Given the description of an element on the screen output the (x, y) to click on. 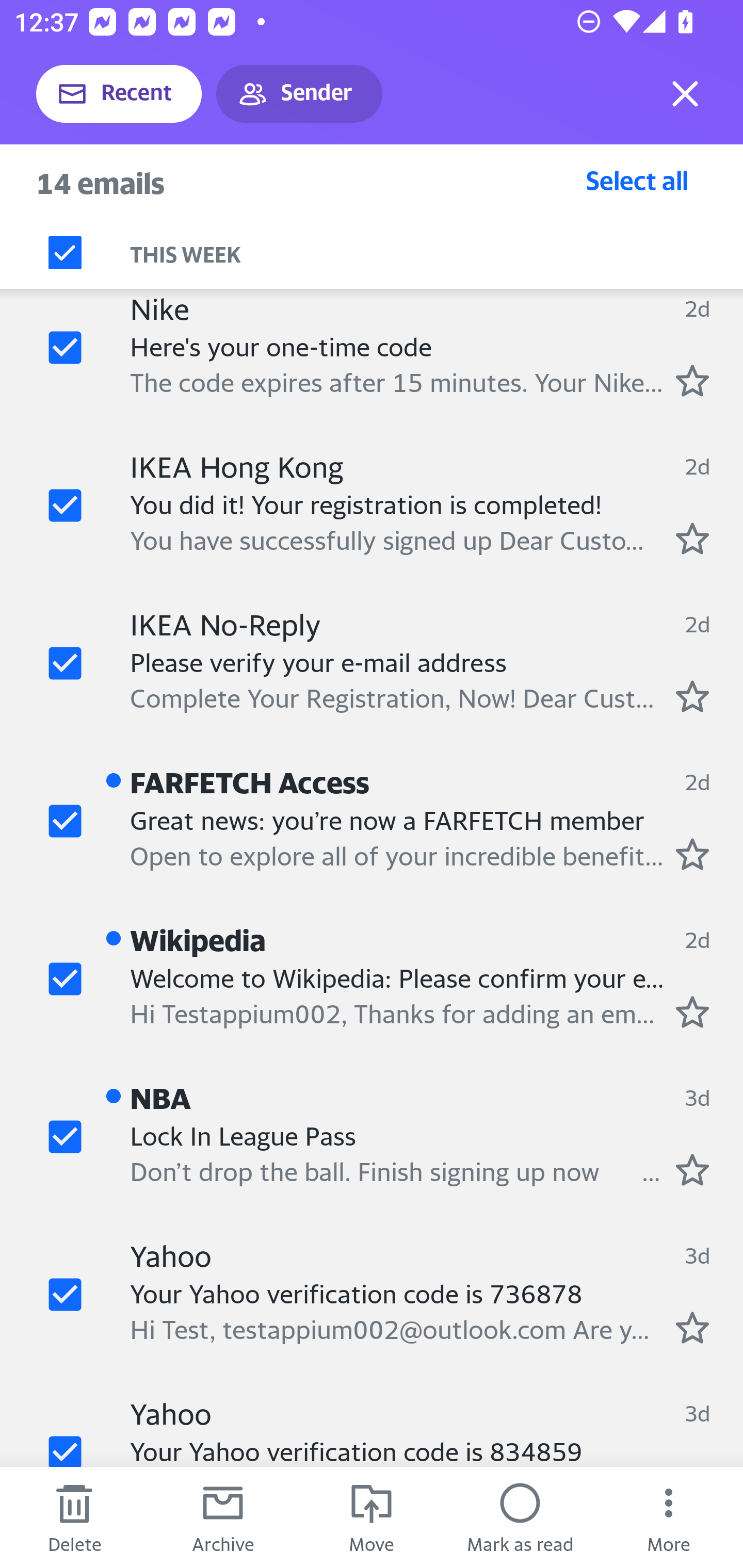
Sender (299, 93)
Exit selection mode (684, 93)
Select all (637, 180)
Mark as starred. (692, 380)
Mark as starred. (692, 538)
Mark as starred. (692, 696)
Mark as starred. (692, 853)
Mark as starred. (692, 1012)
Mark as starred. (692, 1170)
Mark as starred. (692, 1327)
Delete (74, 1517)
Archive (222, 1517)
Move (371, 1517)
Mark as read (519, 1517)
More (668, 1517)
